Given the description of an element on the screen output the (x, y) to click on. 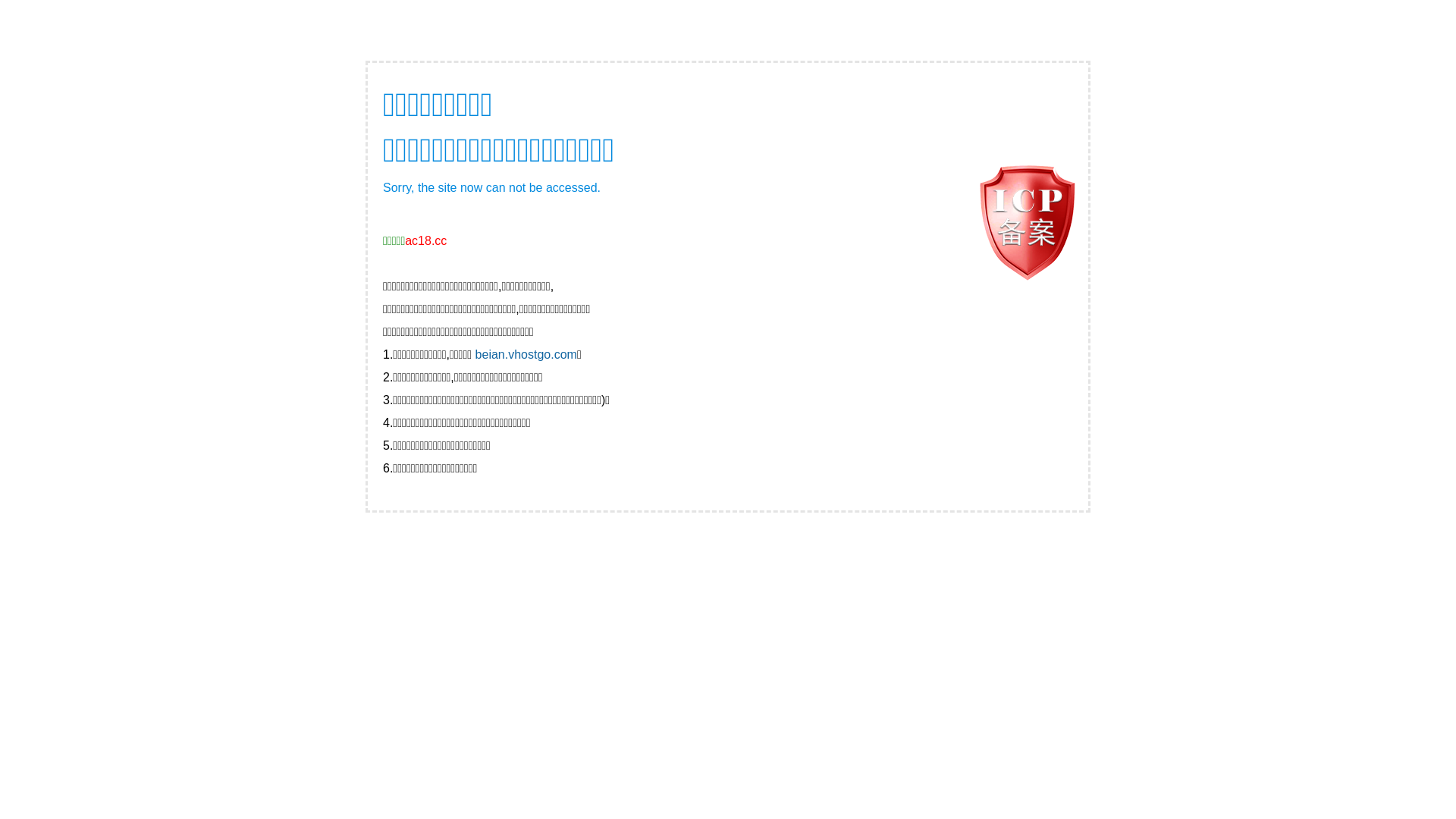
beian.vhostgo.com Element type: text (526, 354)
